Given the description of an element on the screen output the (x, y) to click on. 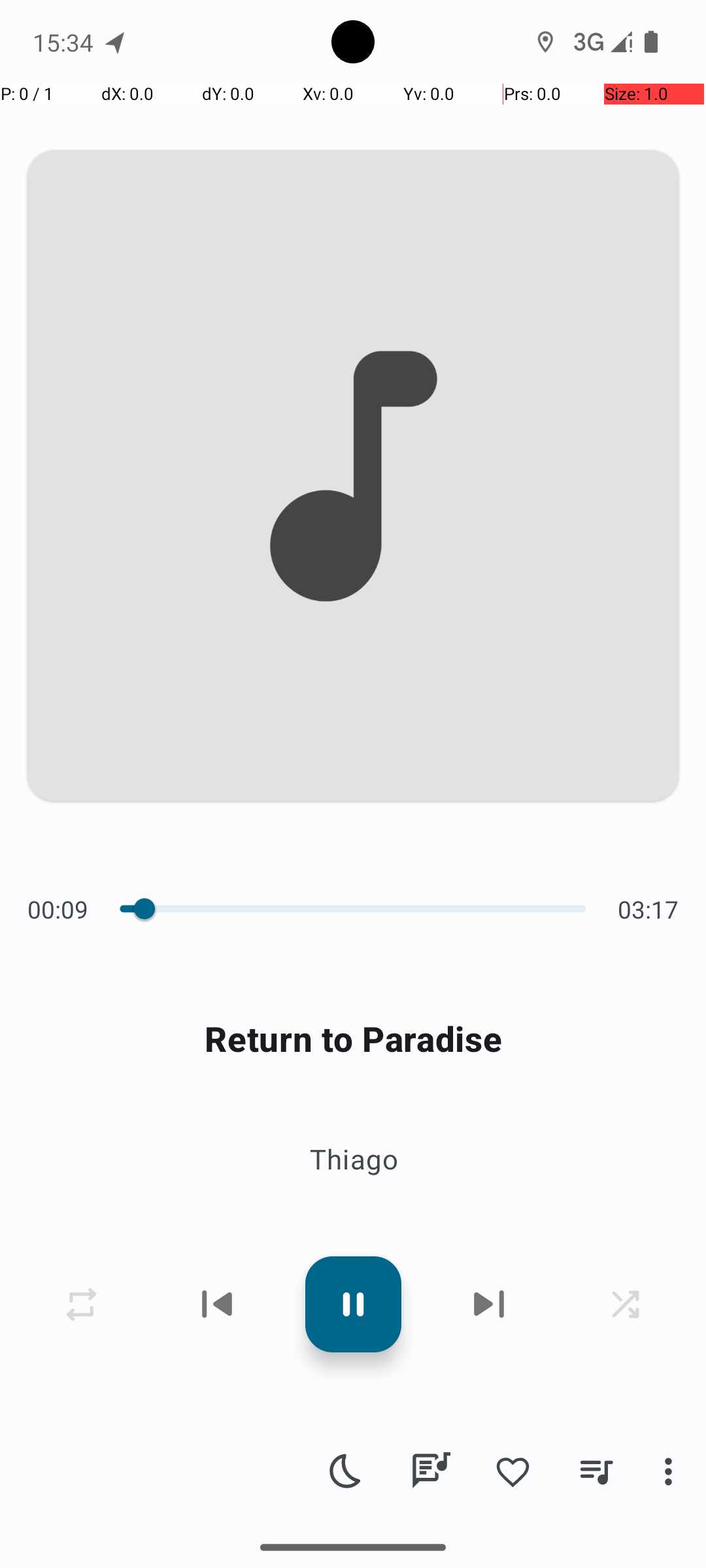
00:09 Element type: android.widget.TextView (61, 908)
03:17 Element type: android.widget.TextView (643, 908)
Return to Paradise Element type: android.widget.TextView (352, 1038)
Thiago Element type: android.widget.TextView (353, 1158)
Sleep timer Element type: android.widget.Button (346, 1471)
Lyrics Element type: android.widget.Button (429, 1471)
Add to favorites Element type: android.widget.Button (512, 1471)
Now playing queue Element type: android.widget.Button (595, 1471)
Value, 5002 Element type: android.widget.SeekBar (135, 908)
City of Stars Element type: android.widget.TextView (363, 231)
Emil Element type: android.widget.TextView (363, 273)
Distant Memories Element type: android.widget.TextView (363, 347)
Elias Element type: android.widget.TextView (363, 390)
Echoes of Silence Element type: android.widget.TextView (363, 463)
Ibrahim Element type: android.widget.TextView (363, 506)
Heartbeat Away Element type: android.widget.TextView (363, 580)
Theodore Element type: android.widget.TextView (363, 622)
Hidden Paths Element type: android.widget.TextView (363, 696)
Jack Element type: android.widget.TextView (363, 738)
Lost in the Echo Element type: android.widget.TextView (363, 812)
Maya Element type: android.widget.TextView (363, 855)
Moonlight Sonata Element type: android.widget.TextView (363, 928)
Noah Element type: android.widget.TextView (363, 971)
Mystic Journey Element type: android.widget.TextView (363, 1045)
Serenity Now Element type: android.widget.TextView (363, 1277)
Mark Element type: android.widget.TextView (363, 1320)
Silent Dreams Element type: android.widget.TextView (363, 1394)
Olivia Element type: android.widget.TextView (363, 1436)
Twilight Calling Element type: android.widget.TextView (363, 1510)
Emilia Element type: android.widget.TextView (363, 1538)
